Given the description of an element on the screen output the (x, y) to click on. 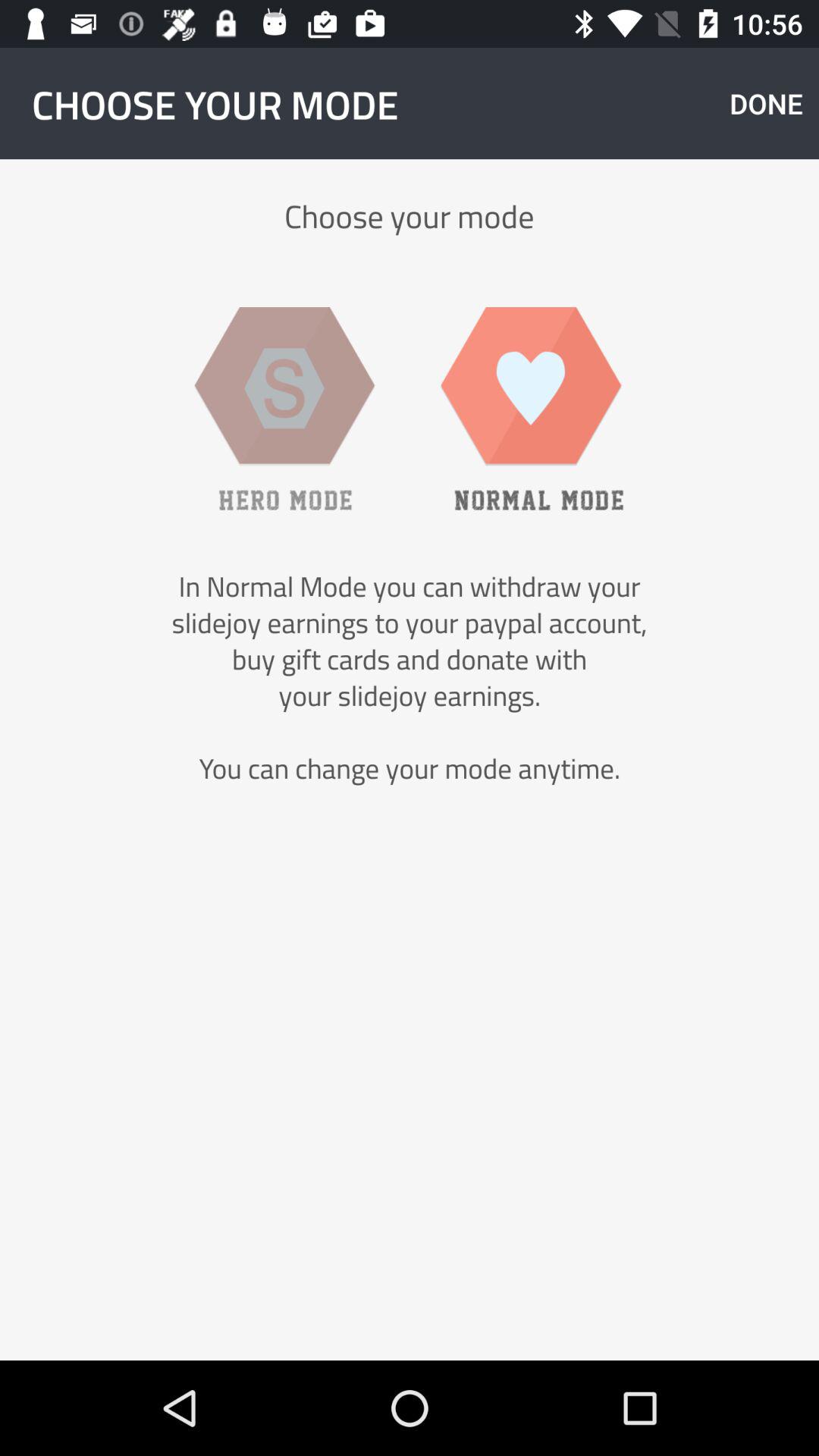
open the item next to choose your mode app (766, 103)
